Given the description of an element on the screen output the (x, y) to click on. 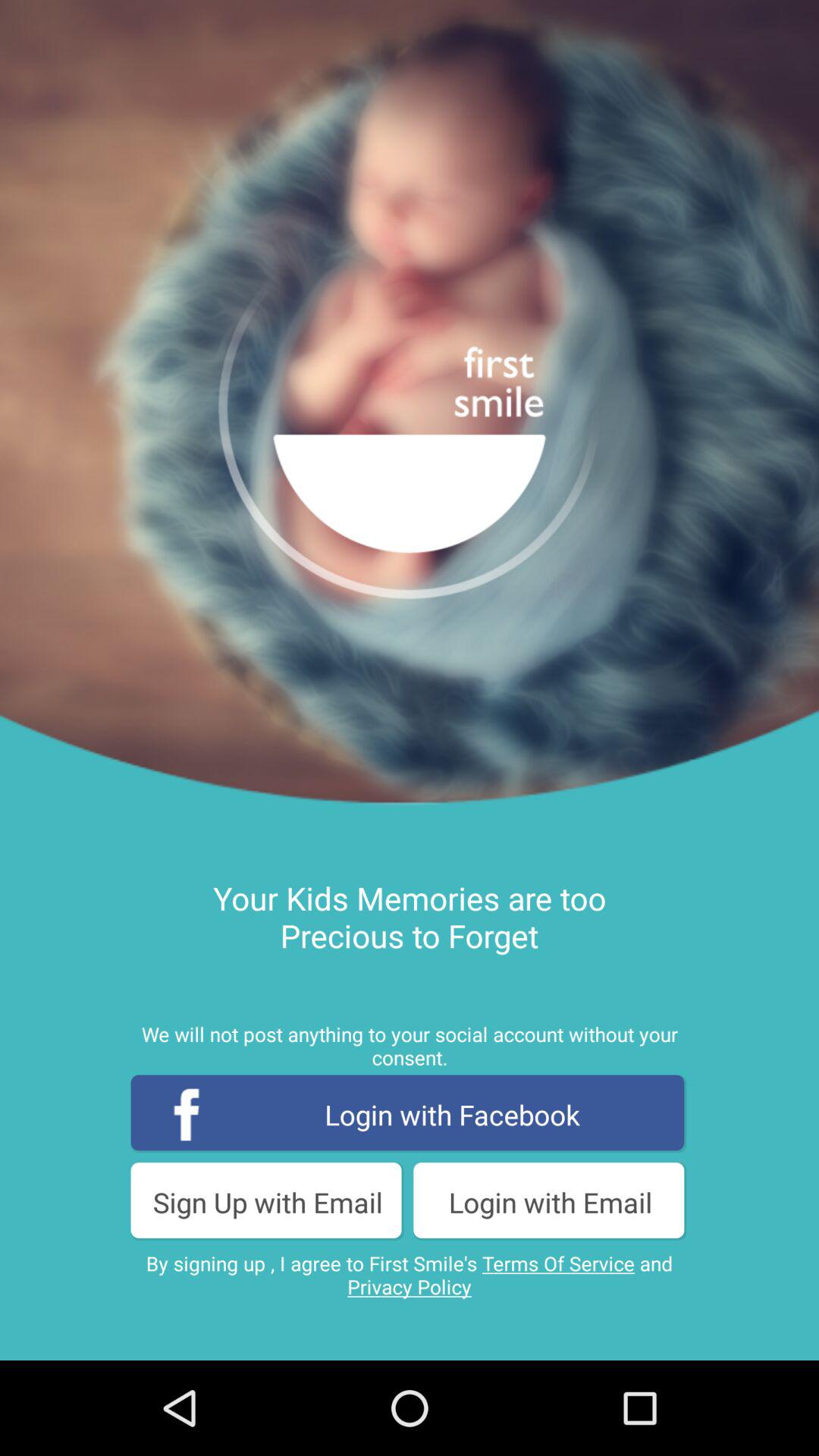
jump to the by signing up app (409, 1275)
